Given the description of an element on the screen output the (x, y) to click on. 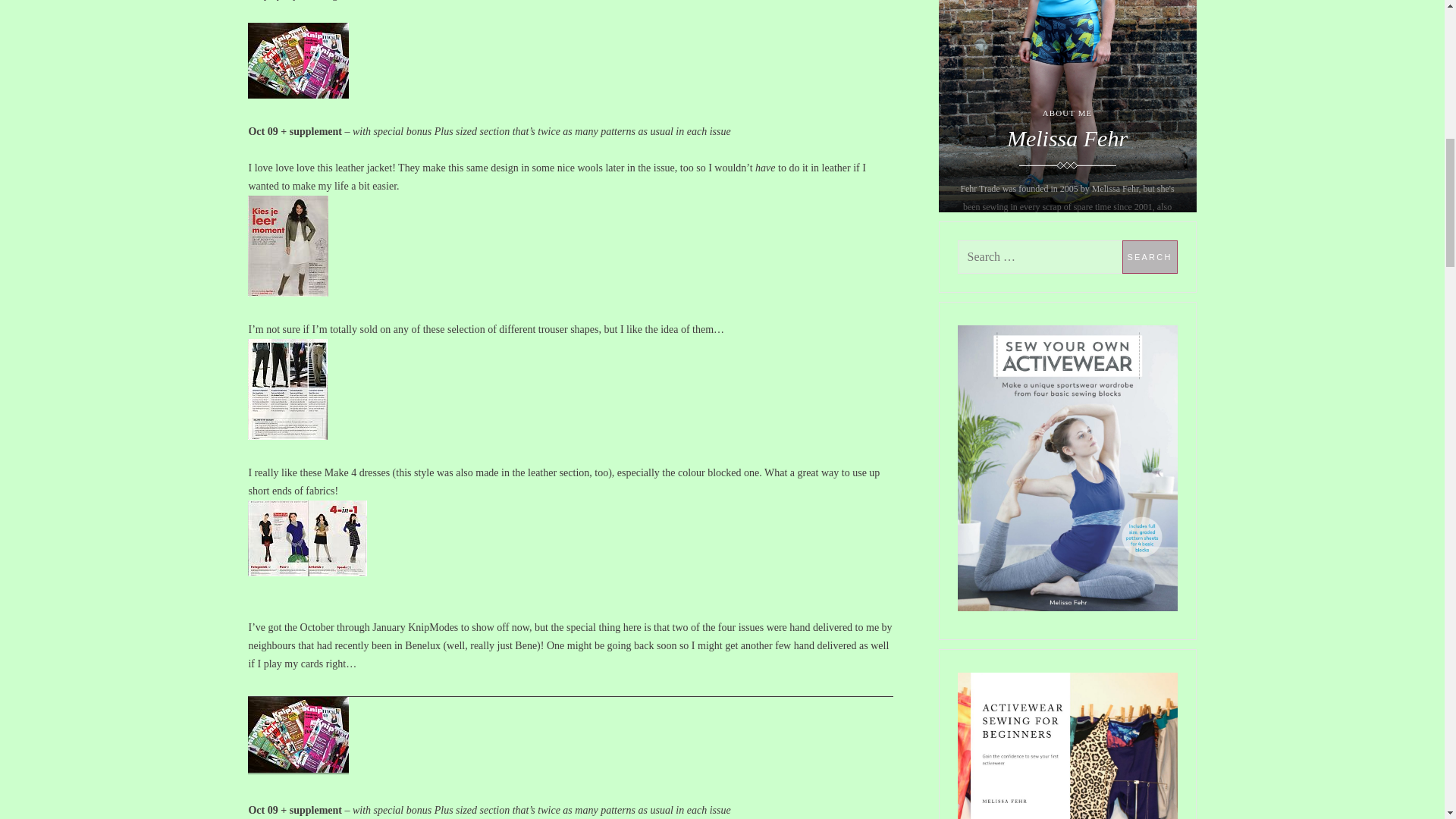
Search (1149, 256)
Search (1149, 256)
